Given the description of an element on the screen output the (x, y) to click on. 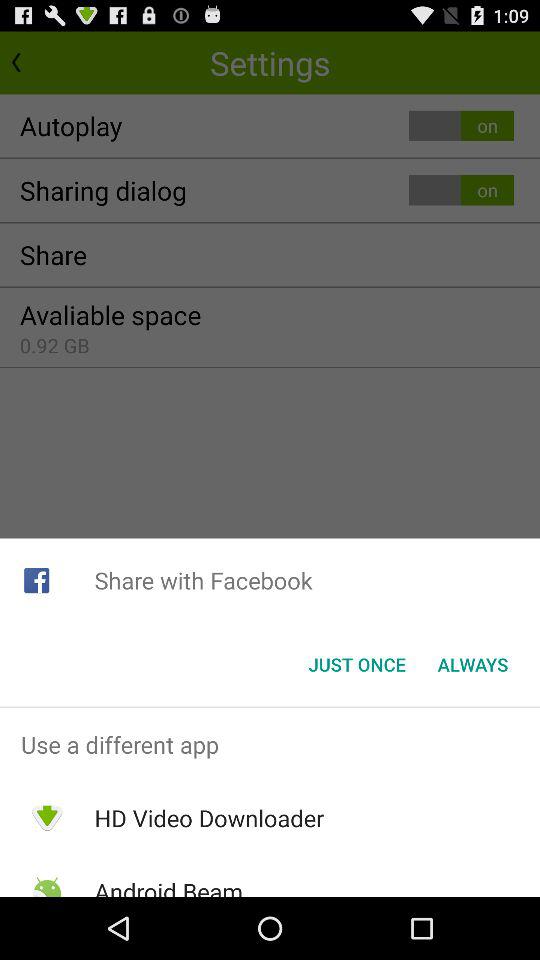
select the use a different icon (270, 744)
